Given the description of an element on the screen output the (x, y) to click on. 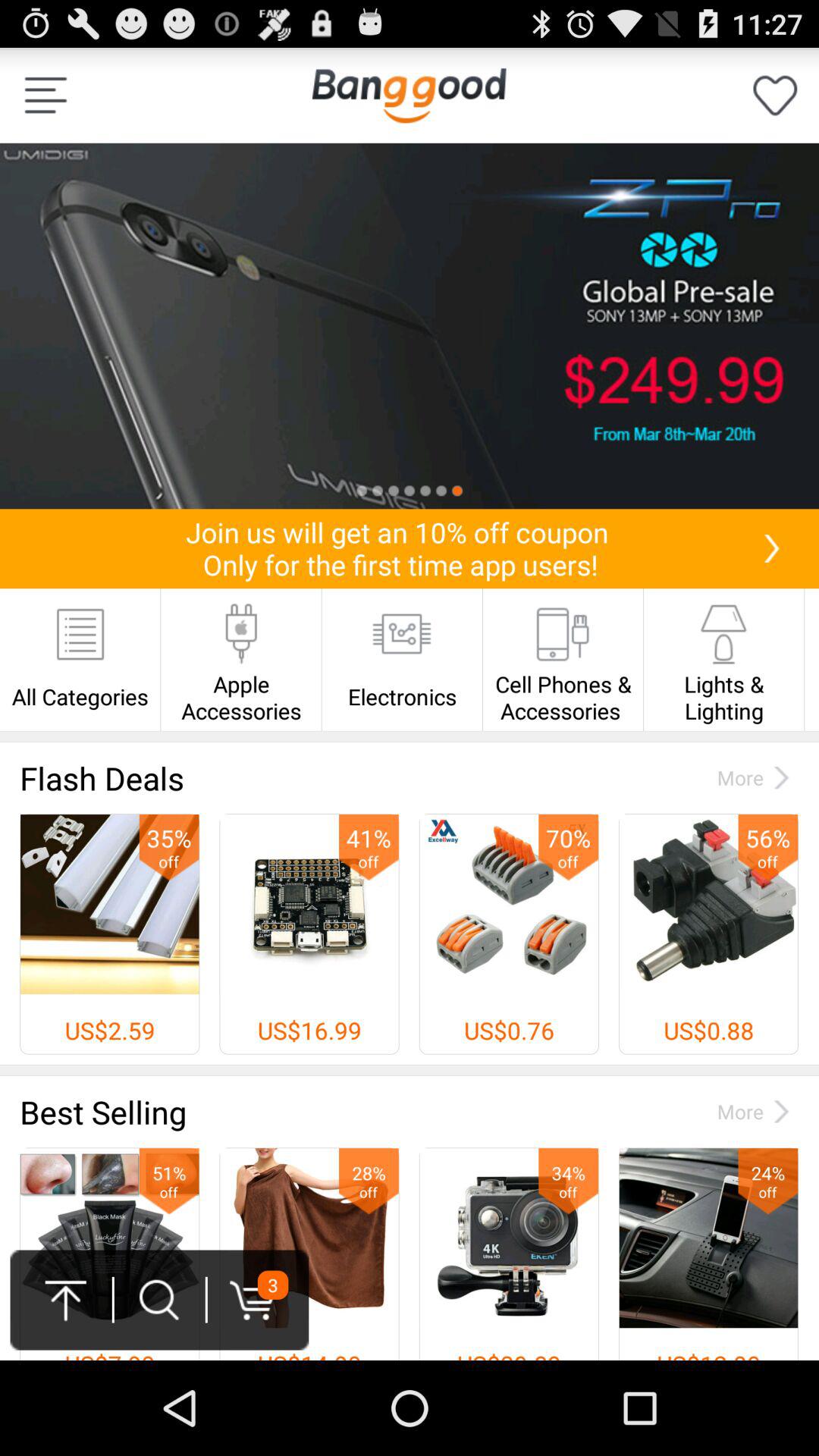
select the icon at the top right corner (775, 95)
